Given the description of an element on the screen output the (x, y) to click on. 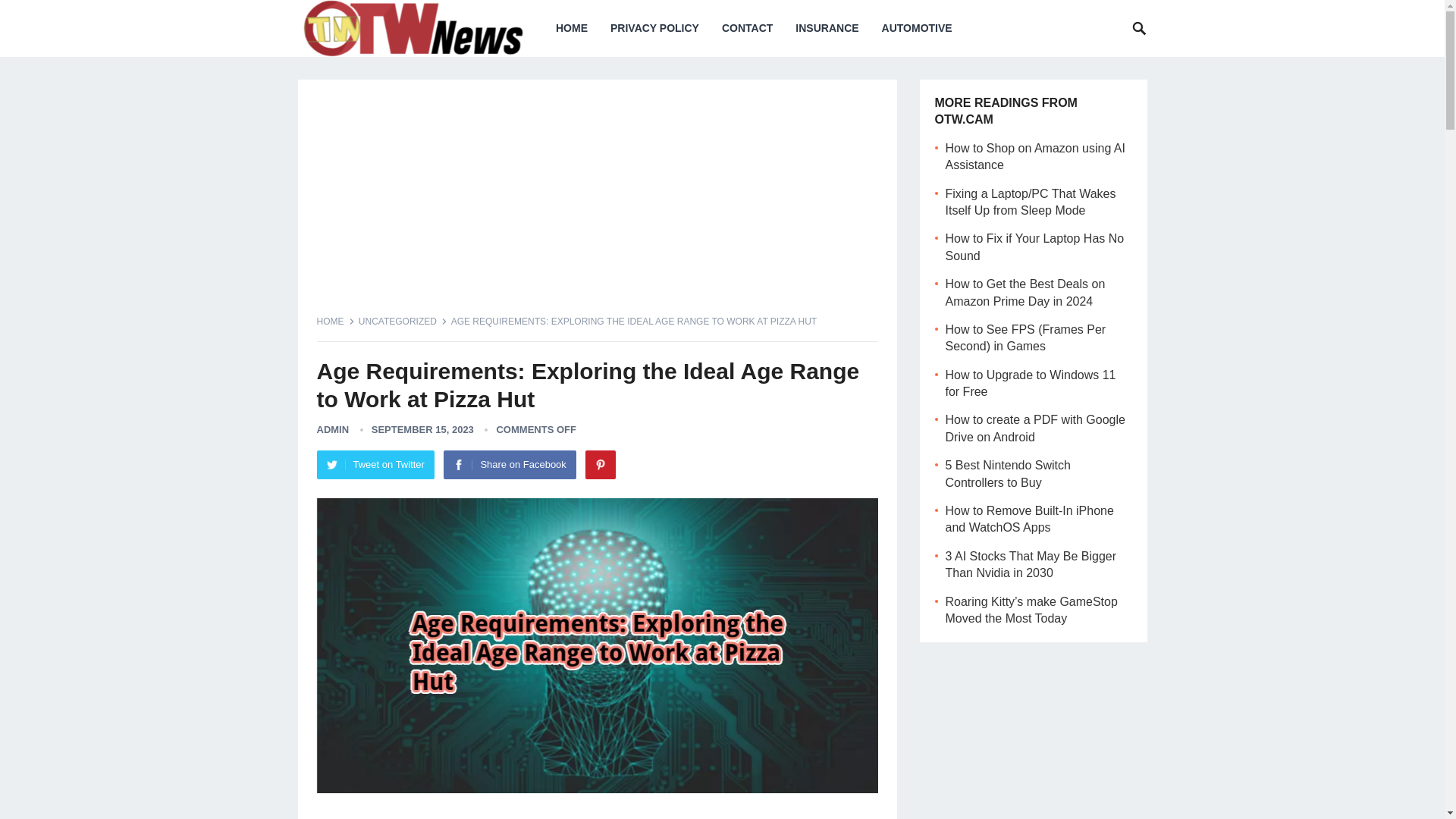
Advertisement (597, 204)
PRIVACY POLICY (654, 28)
Posts by admin (333, 429)
Share on Facebook (509, 464)
CONTACT (747, 28)
UNCATEGORIZED (402, 321)
HOME (571, 28)
INSURANCE (826, 28)
Pinterest (600, 464)
Advertisement (597, 812)
Tweet on Twitter (375, 464)
AUTOMOTIVE (916, 28)
ADMIN (333, 429)
HOME (336, 321)
View all posts in Uncategorized (402, 321)
